Given the description of an element on the screen output the (x, y) to click on. 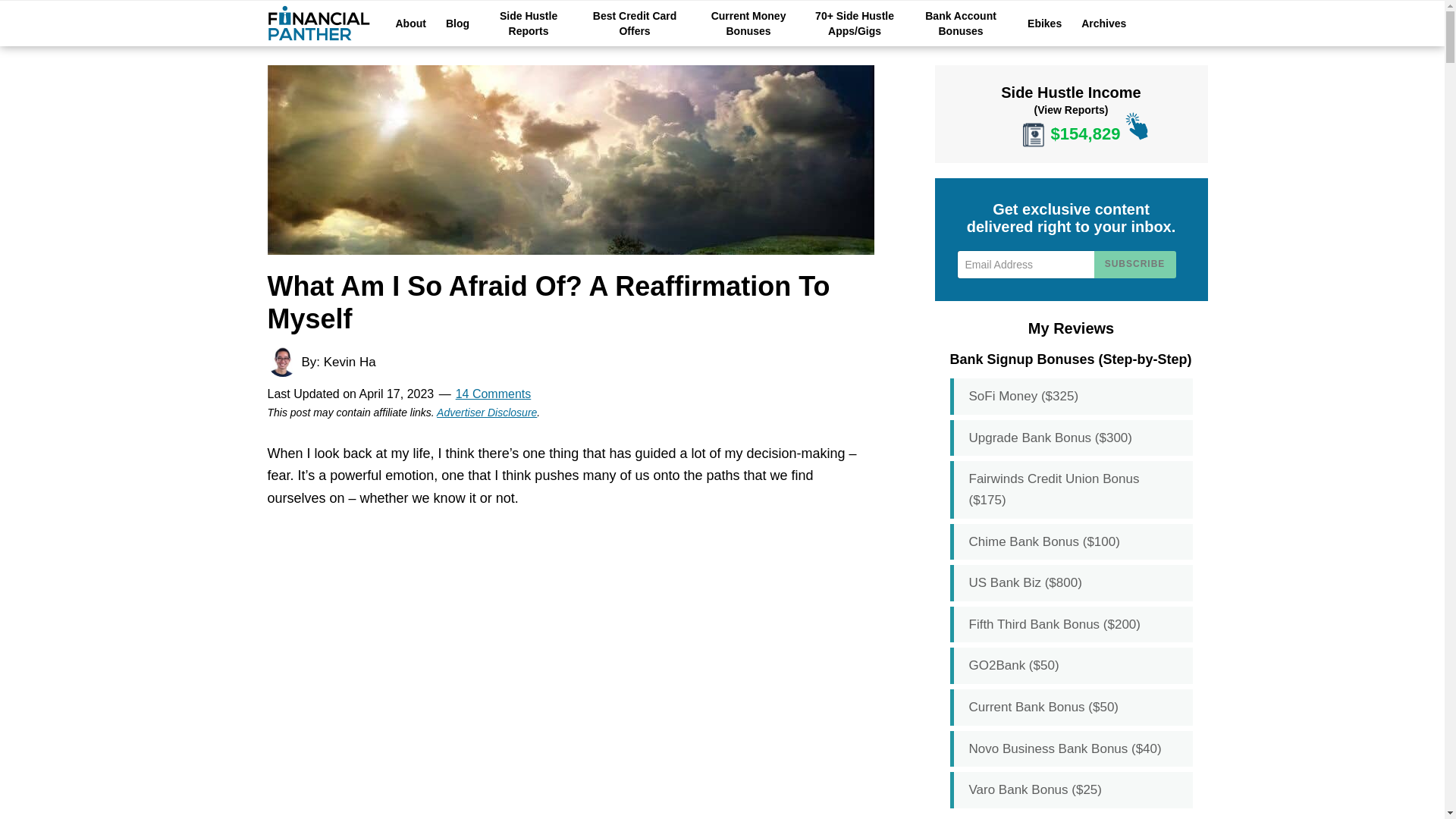
Side Hustle Reports (528, 22)
14 Comments (493, 393)
Home (317, 26)
Best Credit Card Offers (634, 22)
Current Money Bonuses (748, 22)
SUBSCRIBE (1133, 264)
About (410, 22)
Bank Account Bonuses (960, 22)
Archives (1103, 22)
Blog (457, 22)
